Given the description of an element on the screen output the (x, y) to click on. 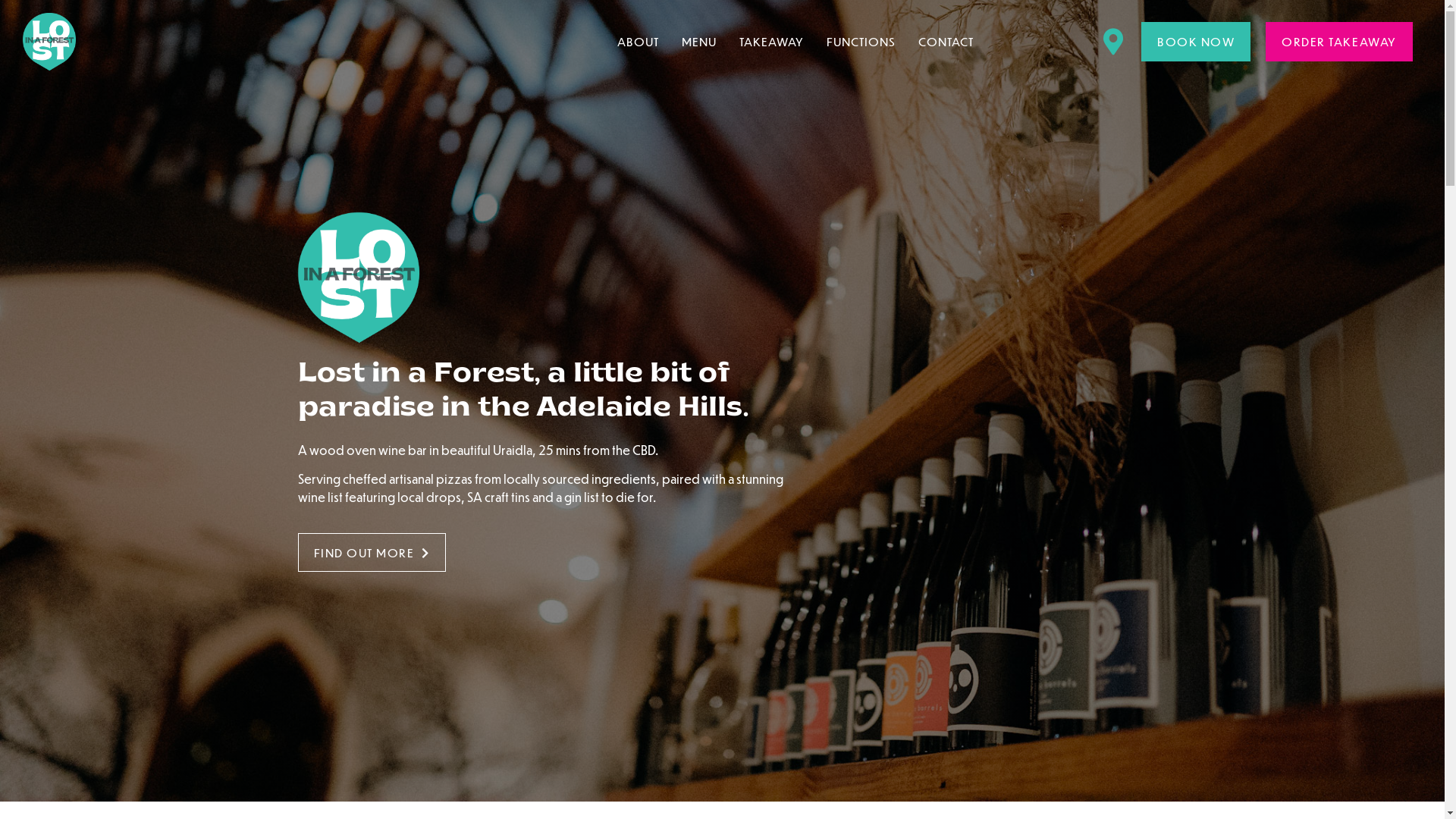
BOOK NOW Element type: text (1195, 41)
FIND OUT MORE Element type: text (371, 552)
ORDER TAKEAWAY Element type: text (1338, 41)
TAKEAWAY Element type: text (771, 41)
CONTACT Element type: text (945, 41)
MENU Element type: text (699, 41)
FUNCTIONS Element type: text (861, 41)
ABOUT Element type: text (637, 41)
